Given the description of an element on the screen output the (x, y) to click on. 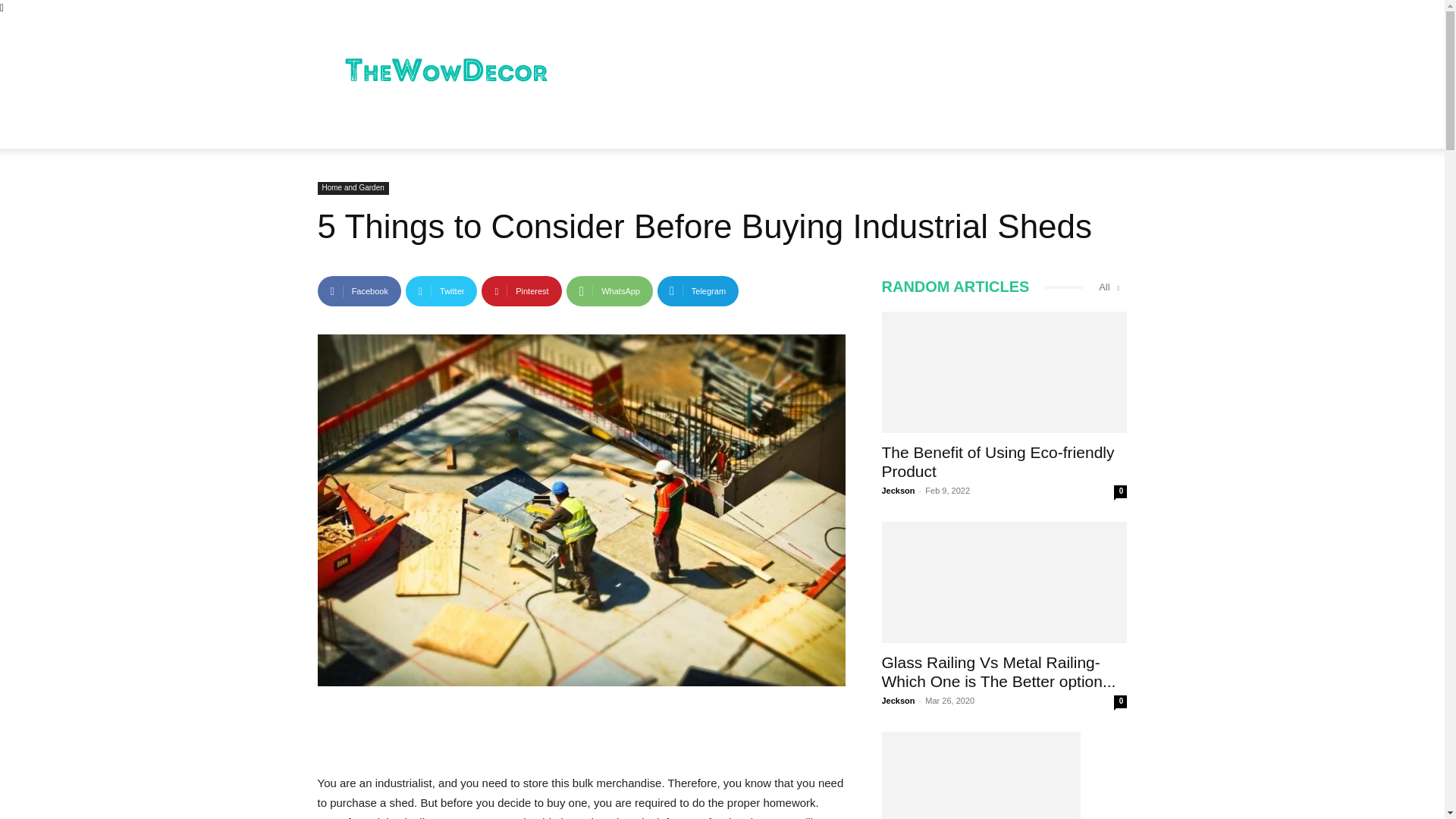
Telegram (698, 291)
INDOOR (355, 130)
Pinterest (520, 291)
HOME DECOR (440, 130)
Twitter (441, 291)
OUTDOORS (535, 130)
Facebook (358, 291)
WhatsApp (609, 291)
